Given the description of an element on the screen output the (x, y) to click on. 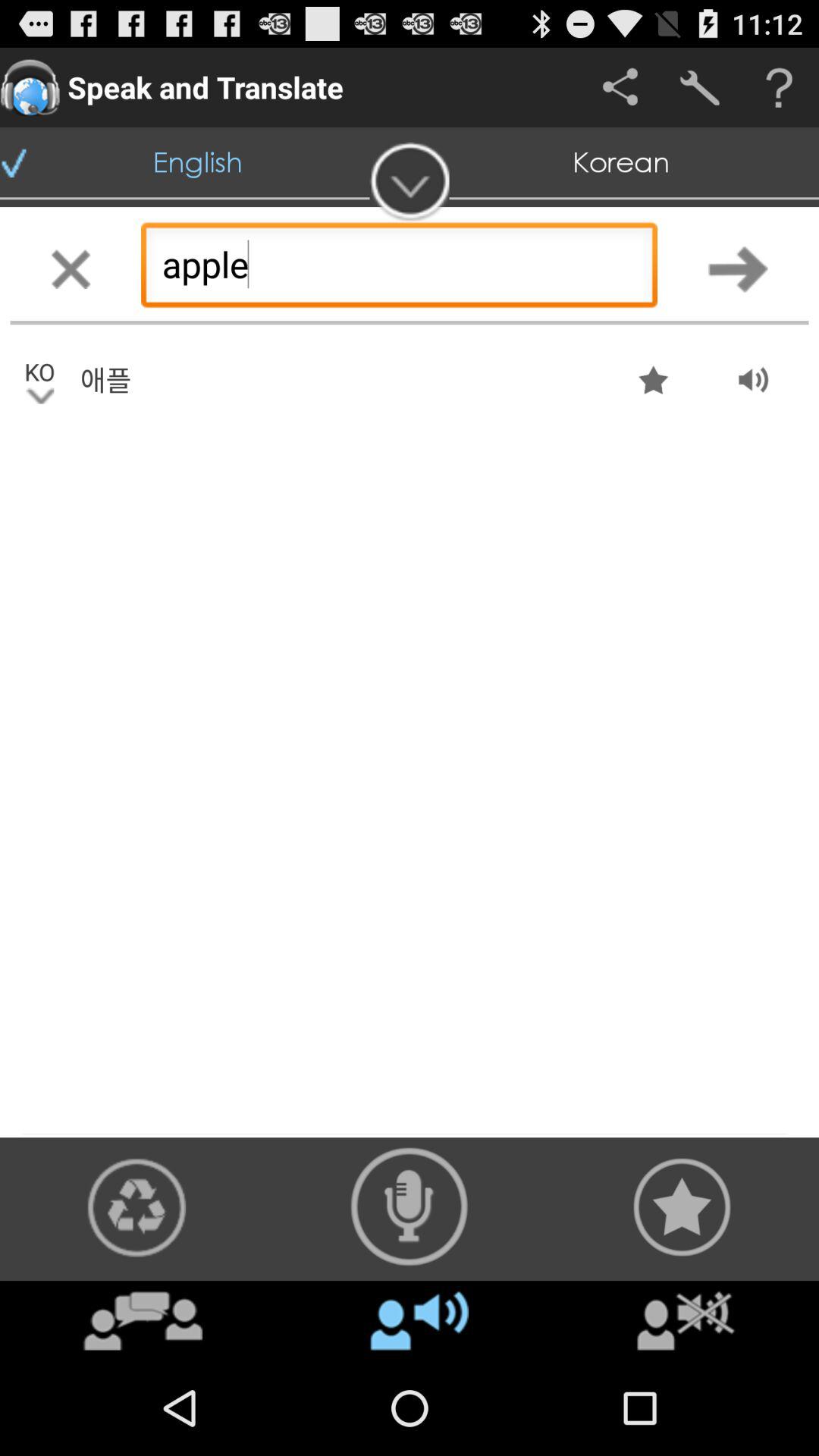
share the content (136, 1206)
